Given the description of an element on the screen output the (x, y) to click on. 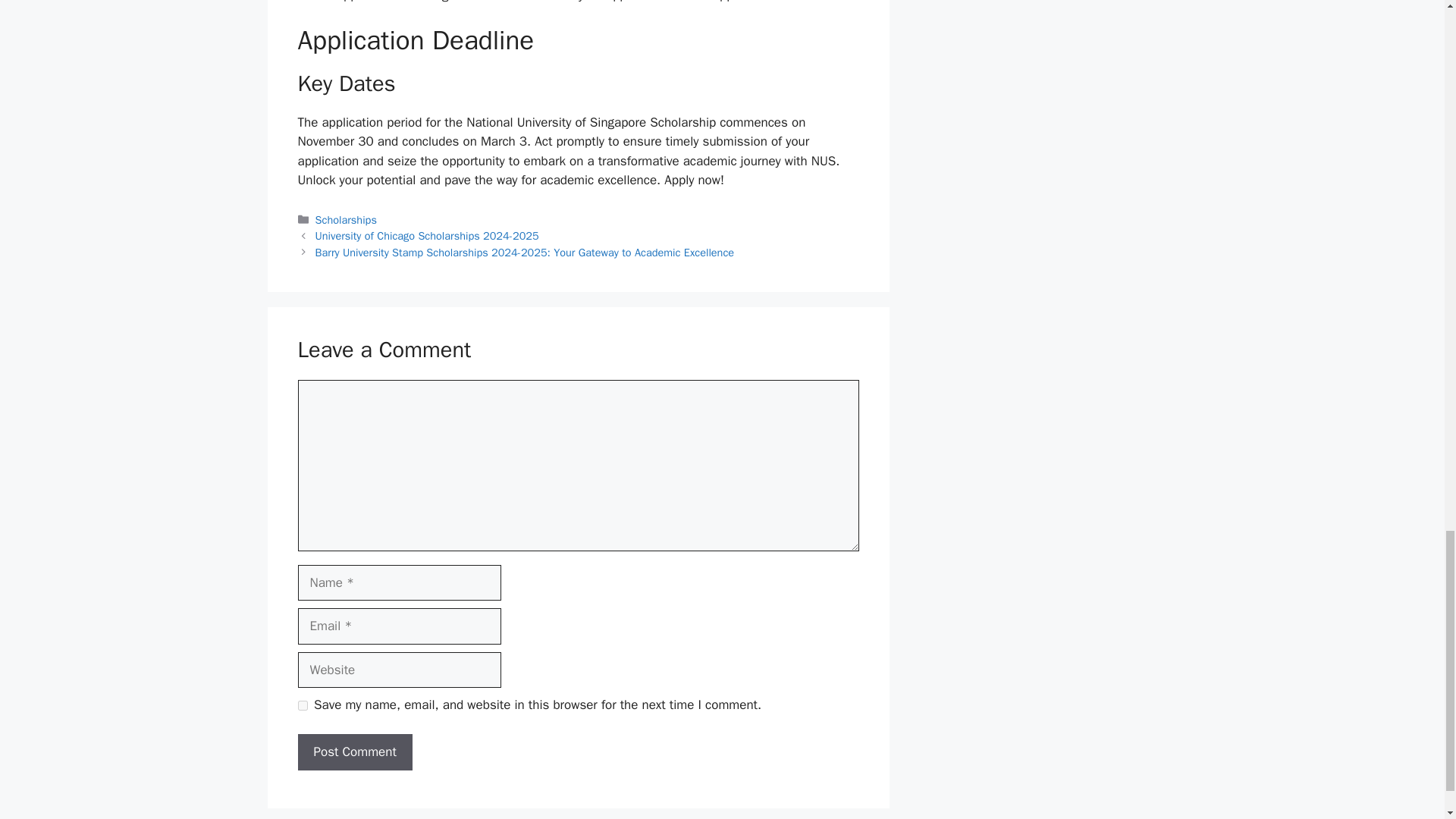
Scholarships (346, 219)
Post Comment (354, 751)
yes (302, 705)
University of Chicago Scholarships 2024-2025 (426, 235)
Post Comment (354, 751)
